Given the description of an element on the screen output the (x, y) to click on. 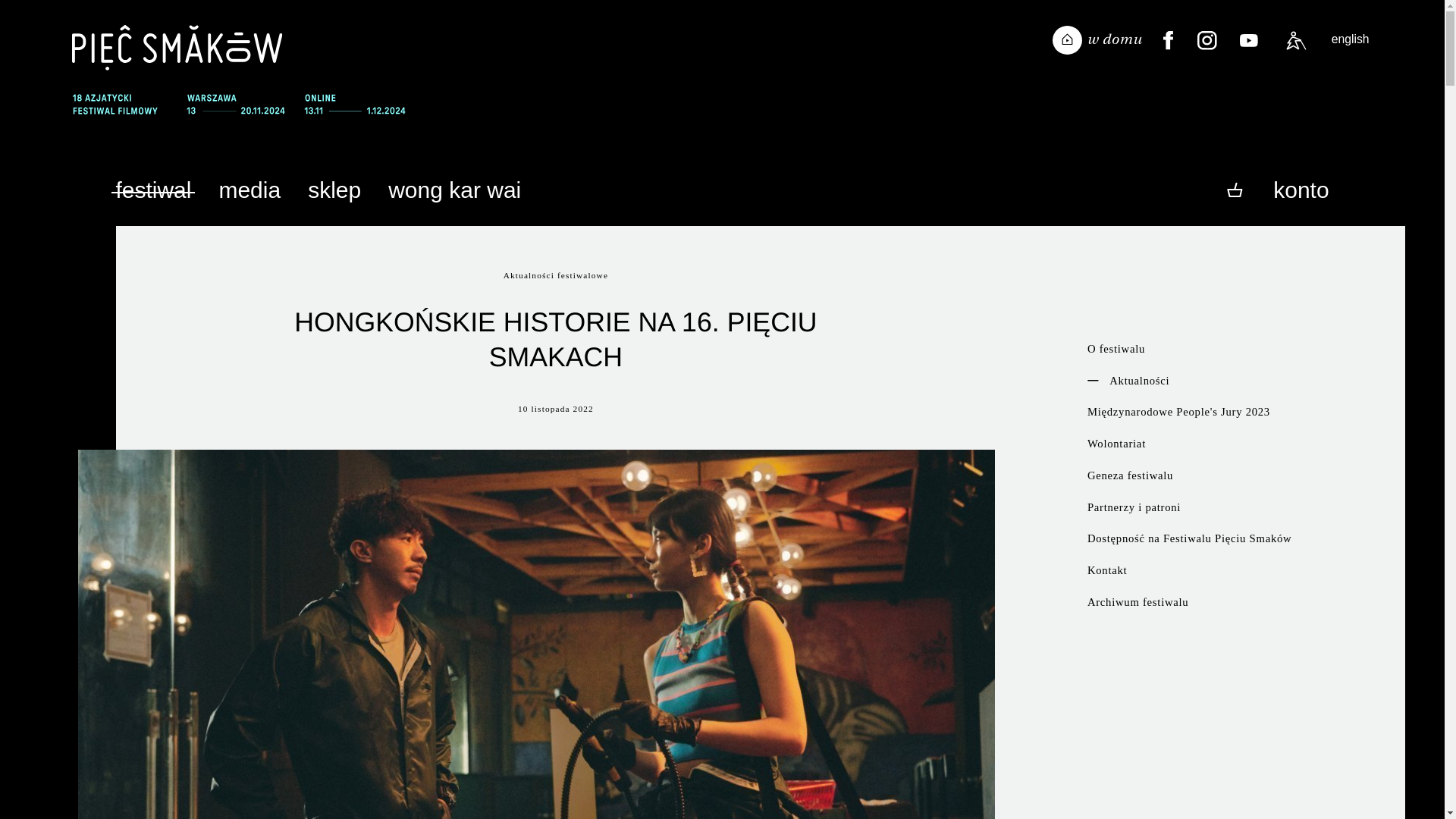
festiwal (152, 186)
english (1351, 39)
Profil na Instagramie (1207, 40)
